Given the description of an element on the screen output the (x, y) to click on. 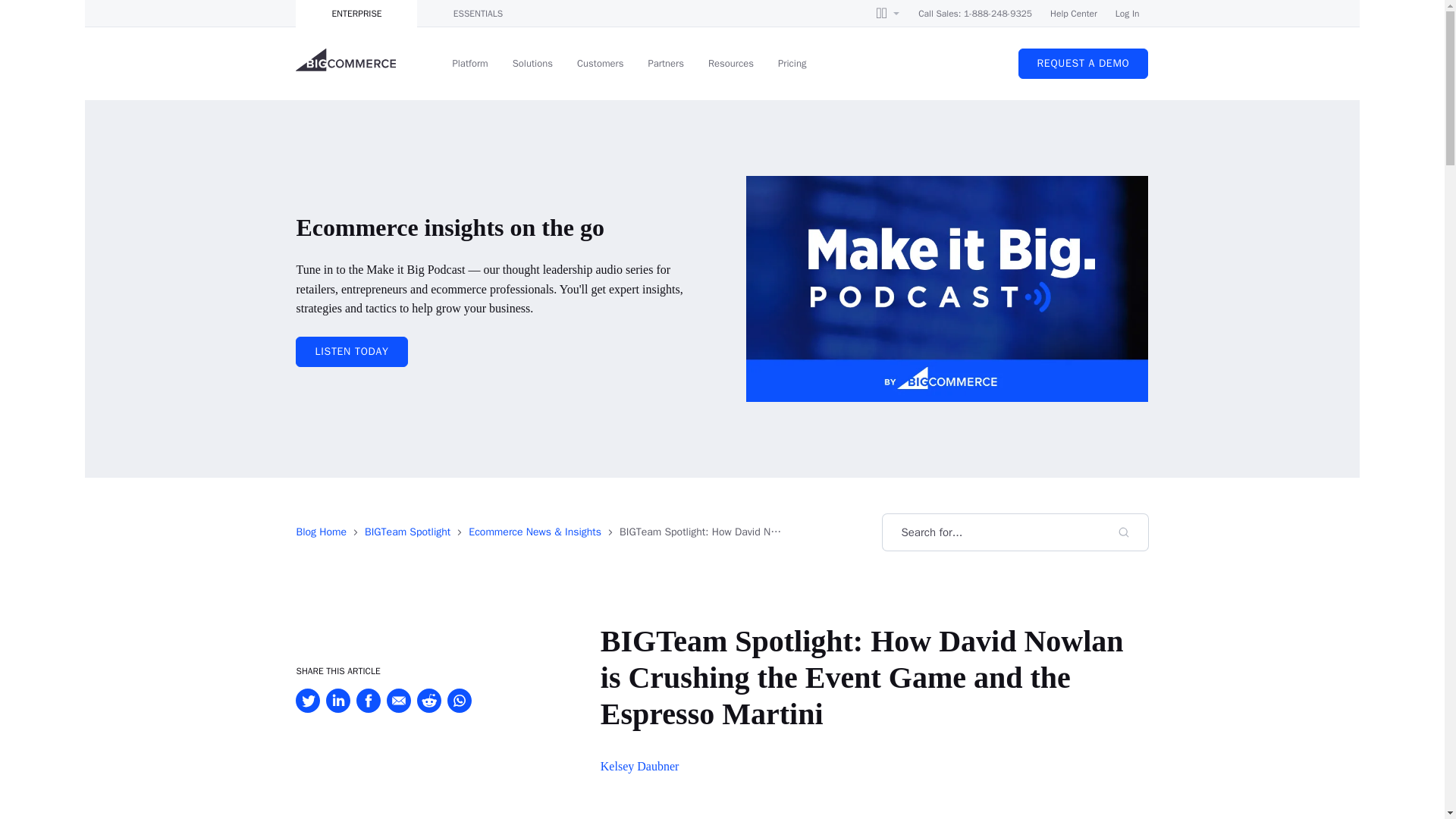
ENTERPRISE (355, 13)
Help Center (1073, 13)
Call Sales: 1-888-248-9325 (975, 13)
ESSENTIALS (477, 13)
